Given the description of an element on the screen output the (x, y) to click on. 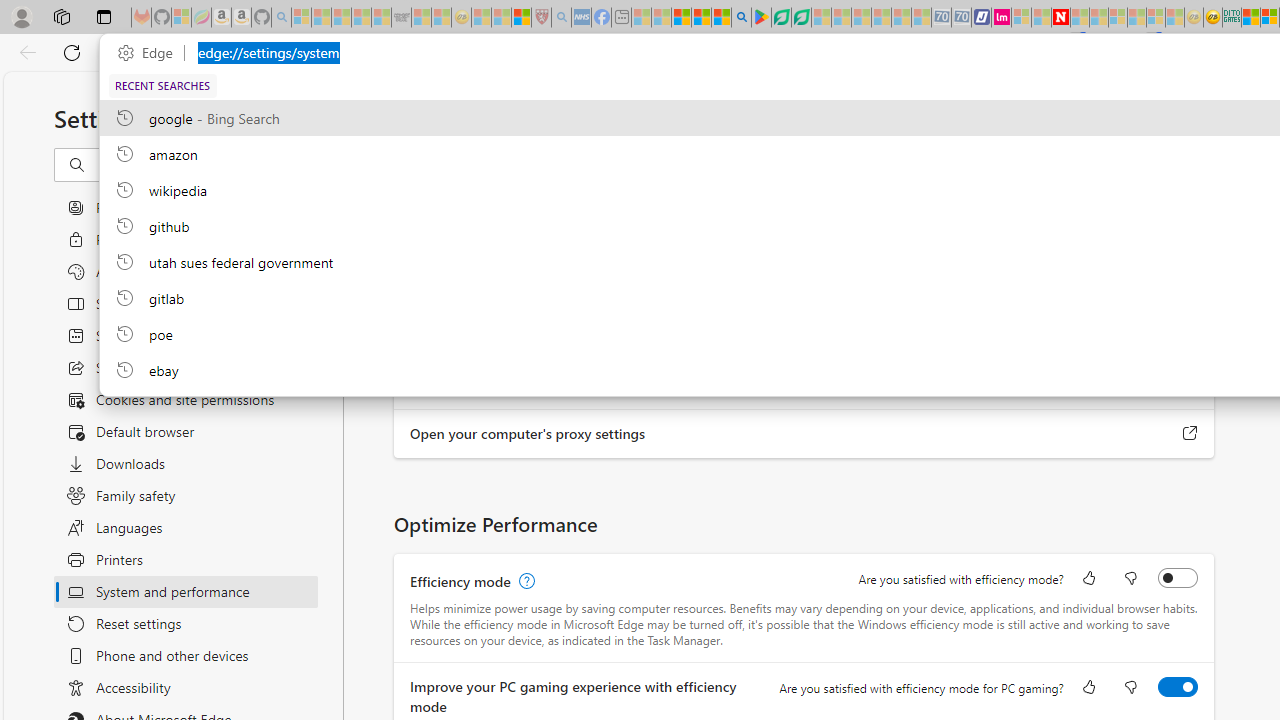
Local - MSN (521, 17)
Enhance videos in Microsoft Edge (1178, 344)
Edge (150, 53)
Microsoft Word - consumer-privacy address update 2.2021 (801, 17)
Use graphics acceleration when available (1178, 295)
